Given the description of an element on the screen output the (x, y) to click on. 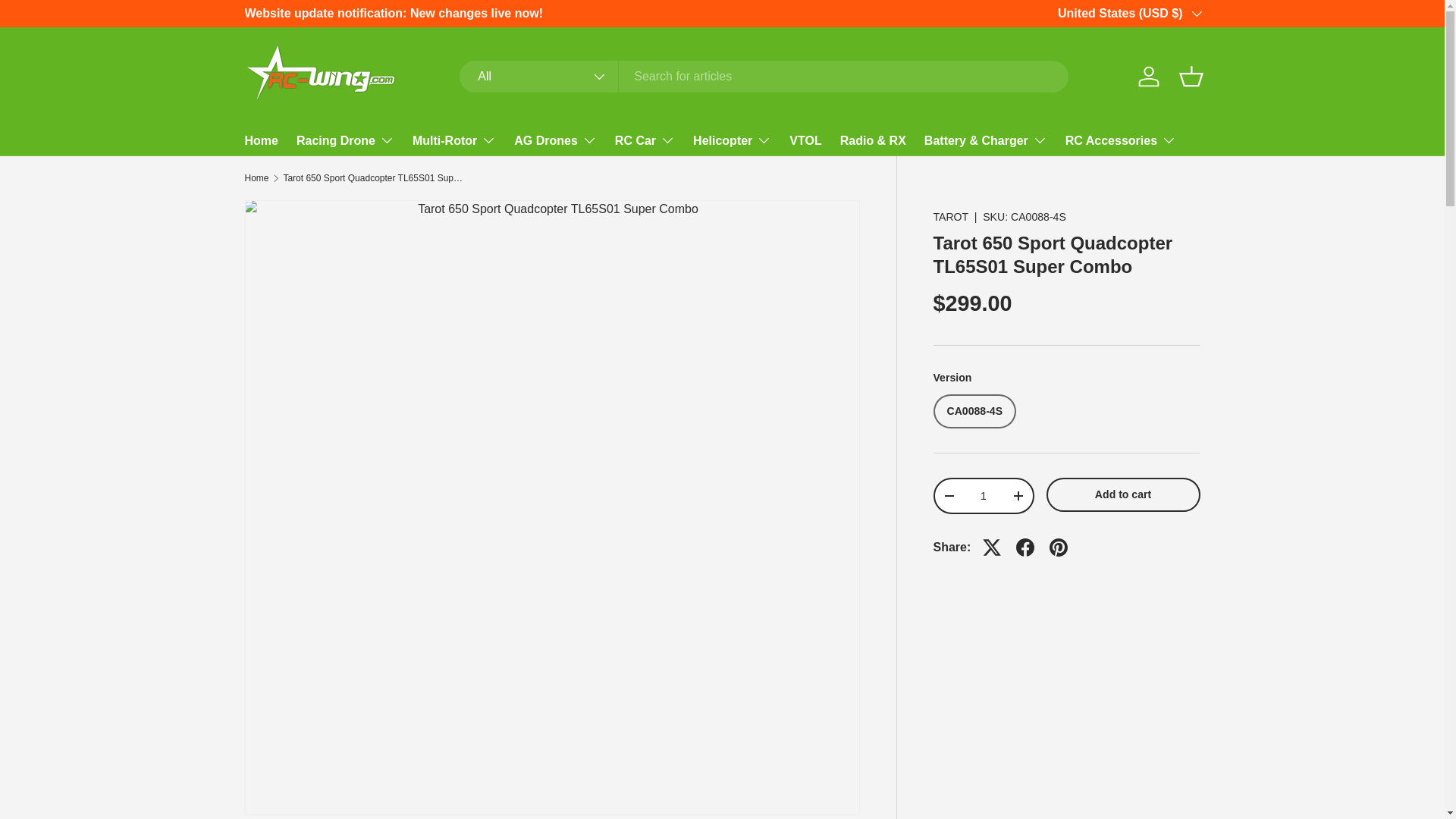
Racing Drone (345, 140)
here (1257, 12)
Tweet on X (992, 547)
Share on Facebook (1025, 547)
All (539, 76)
Log in (1147, 75)
Home (261, 140)
1 (982, 495)
Multi-Rotor (454, 140)
